Given the description of an element on the screen output the (x, y) to click on. 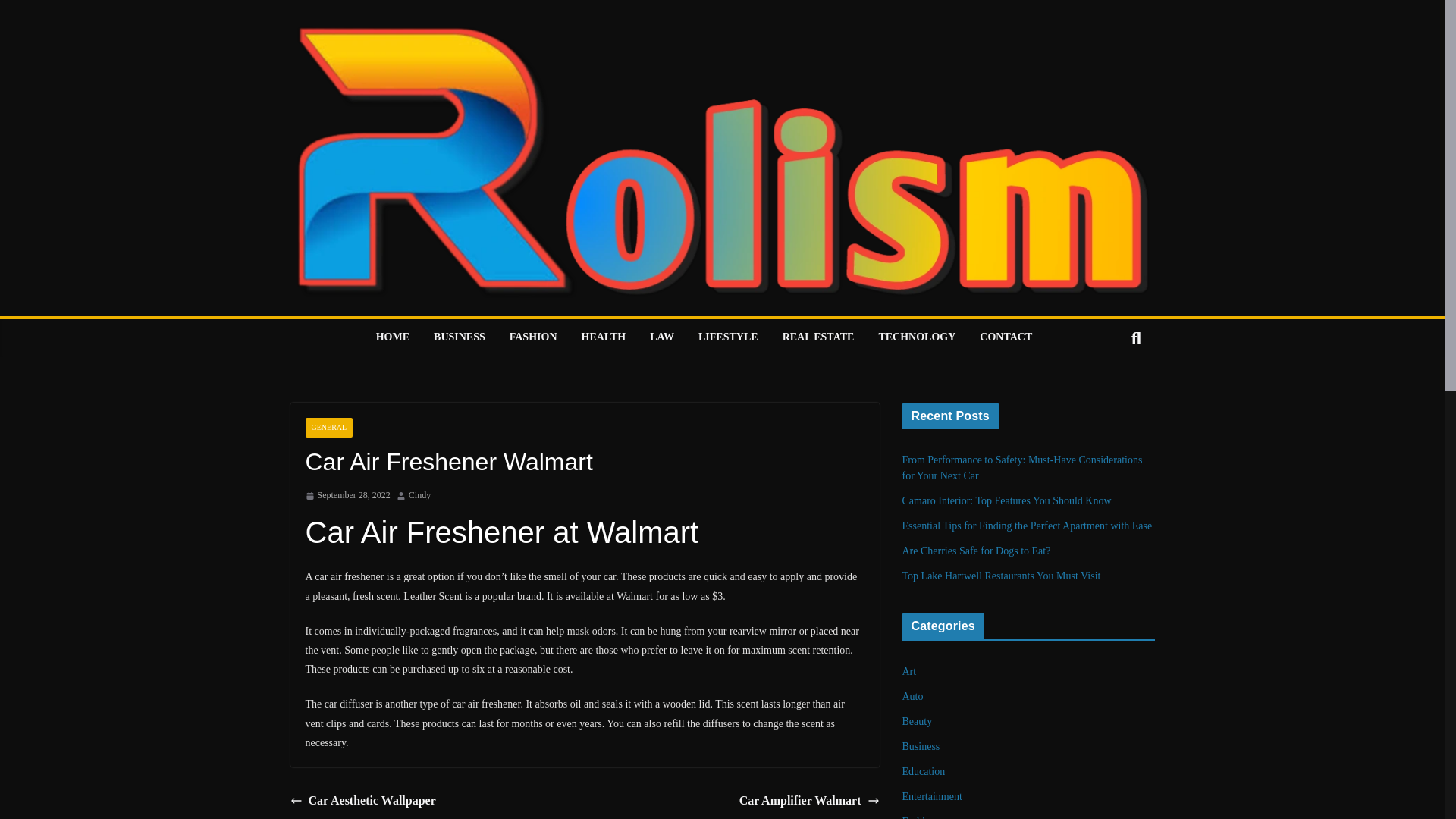
Beauty (917, 721)
Business (921, 746)
Top Lake Hartwell Restaurants You Must Visit (1001, 575)
September 28, 2022 (347, 495)
TECHNOLOGY (916, 337)
HOME (392, 337)
Auto (912, 696)
BUSINESS (458, 337)
FASHION (533, 337)
